Given the description of an element on the screen output the (x, y) to click on. 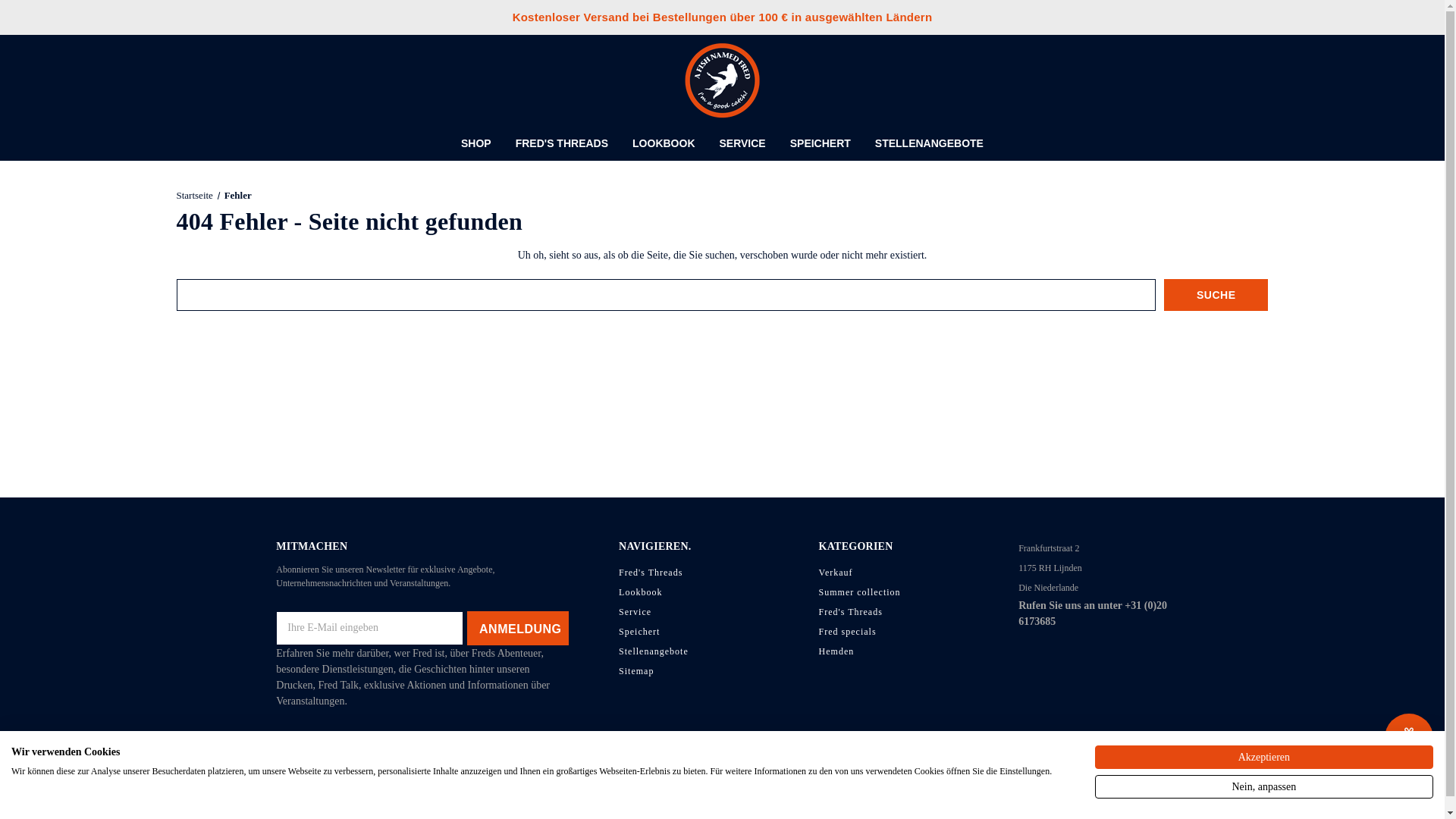
Suche (1215, 295)
A fish named Fred (722, 79)
Anmeldung (518, 627)
